Given the description of an element on the screen output the (x, y) to click on. 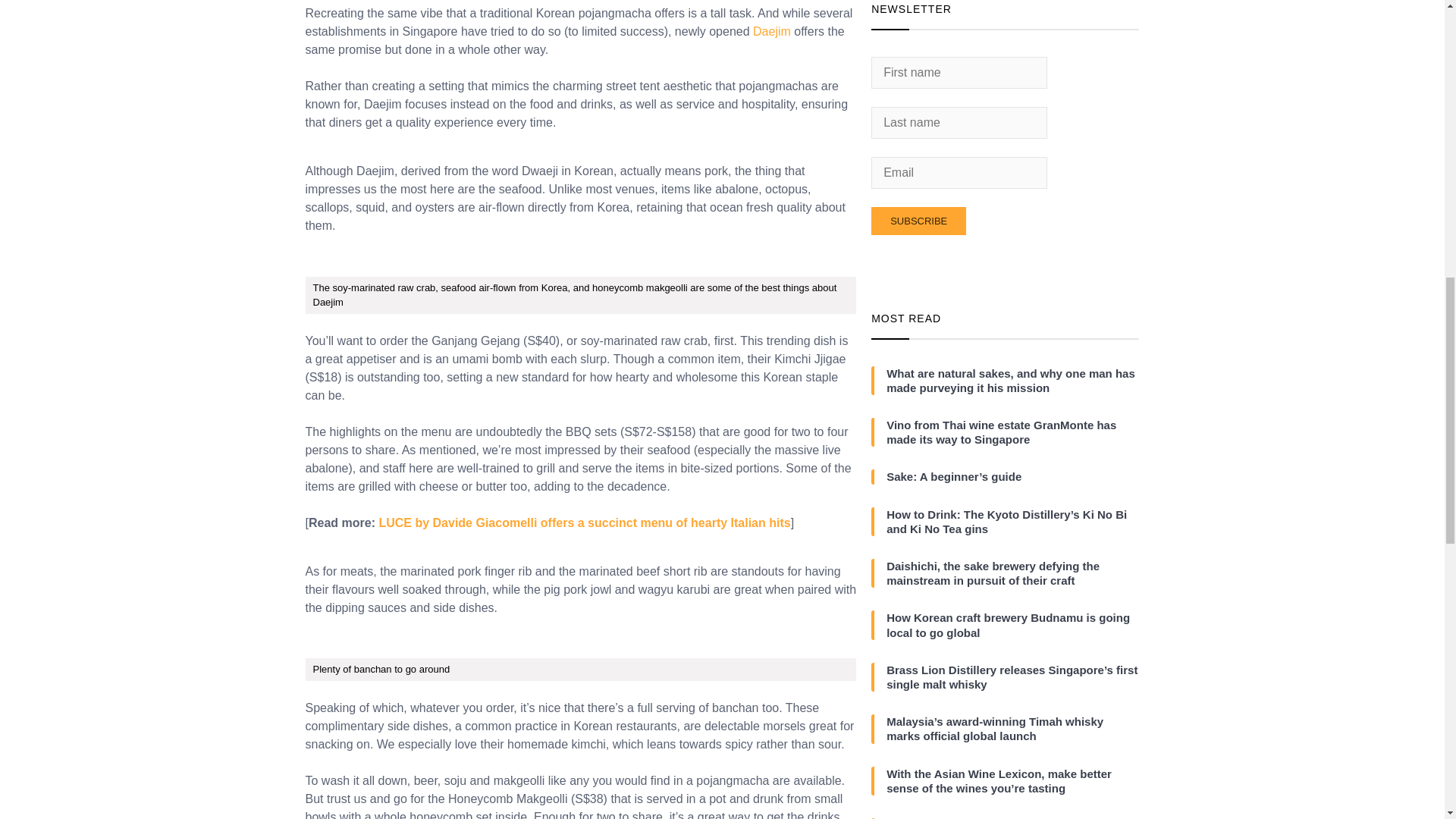
Daejim (771, 31)
How Korean craft brewery Budnamu is going local to go global (1012, 624)
Subscribe (918, 221)
Subscribe (918, 221)
